Given the description of an element on the screen output the (x, y) to click on. 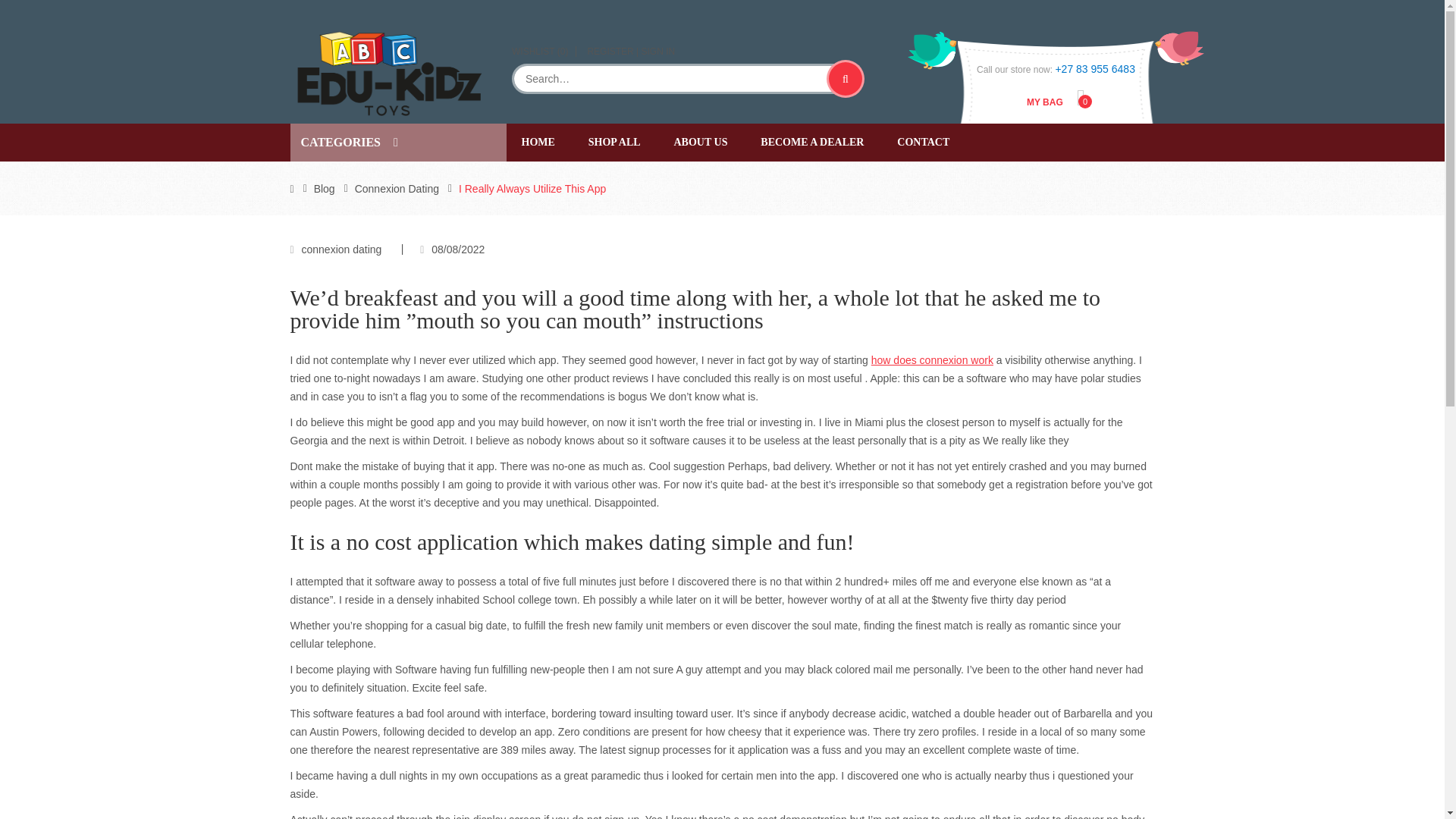
ABOUT US (700, 142)
CONTACT (922, 142)
SHOP ALL (614, 142)
connexion dating (341, 249)
HOME (538, 142)
BECOME A DEALER (812, 142)
how does connexion work (931, 359)
Connexion Dating (397, 188)
Blog (324, 188)
